Given the description of an element on the screen output the (x, y) to click on. 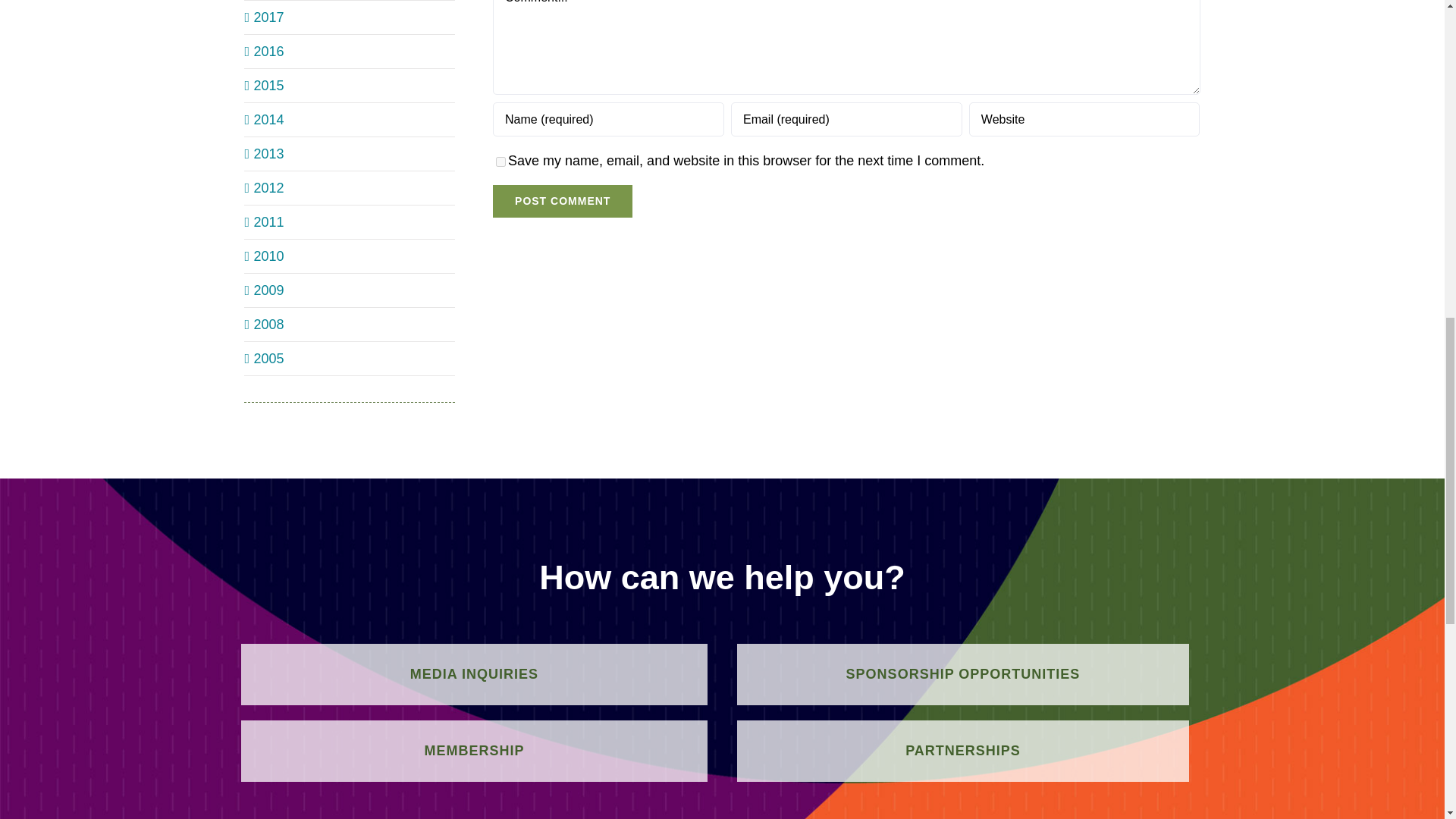
Post Comment (562, 201)
yes (500, 162)
